Given the description of an element on the screen output the (x, y) to click on. 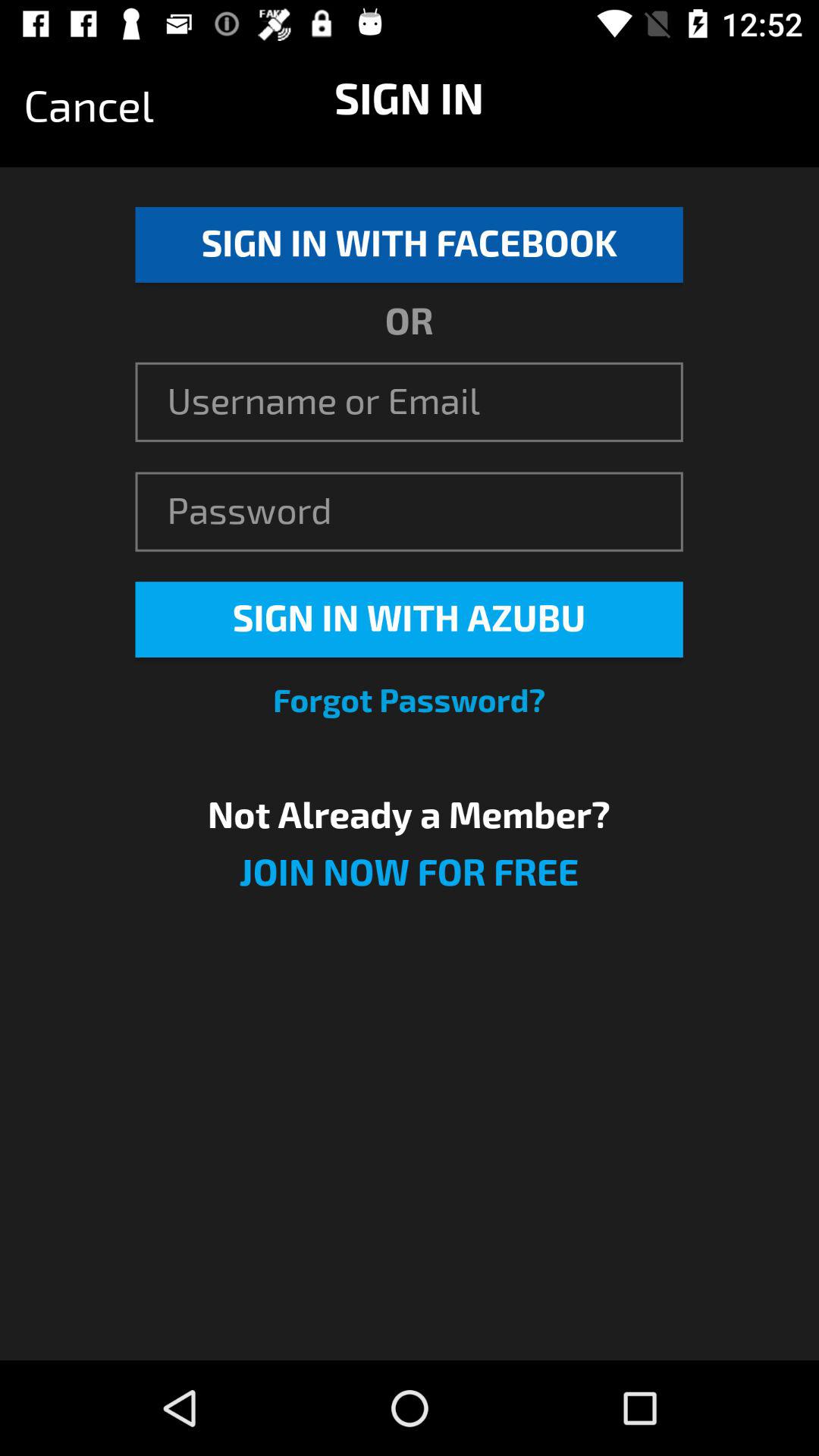
turn off the item below sign in with (409, 701)
